Given the description of an element on the screen output the (x, y) to click on. 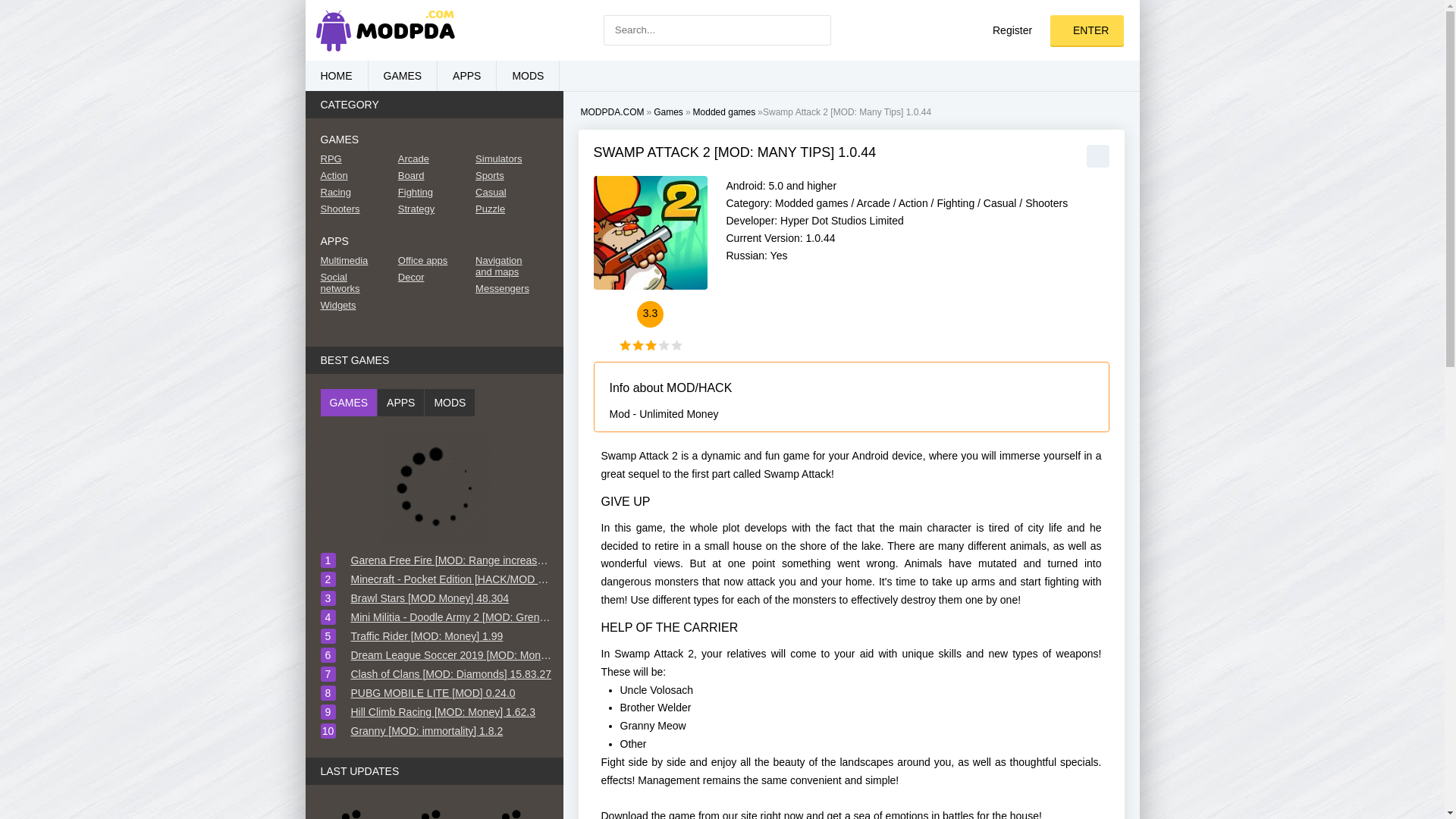
Useless (624, 345)
Poor (636, 345)
Action (913, 203)
Modded games (811, 203)
4 (662, 345)
Add to bookmarks (1097, 155)
Excellent (675, 345)
Shooters (352, 208)
Racing (352, 192)
Shooters (1046, 203)
